Given the description of an element on the screen output the (x, y) to click on. 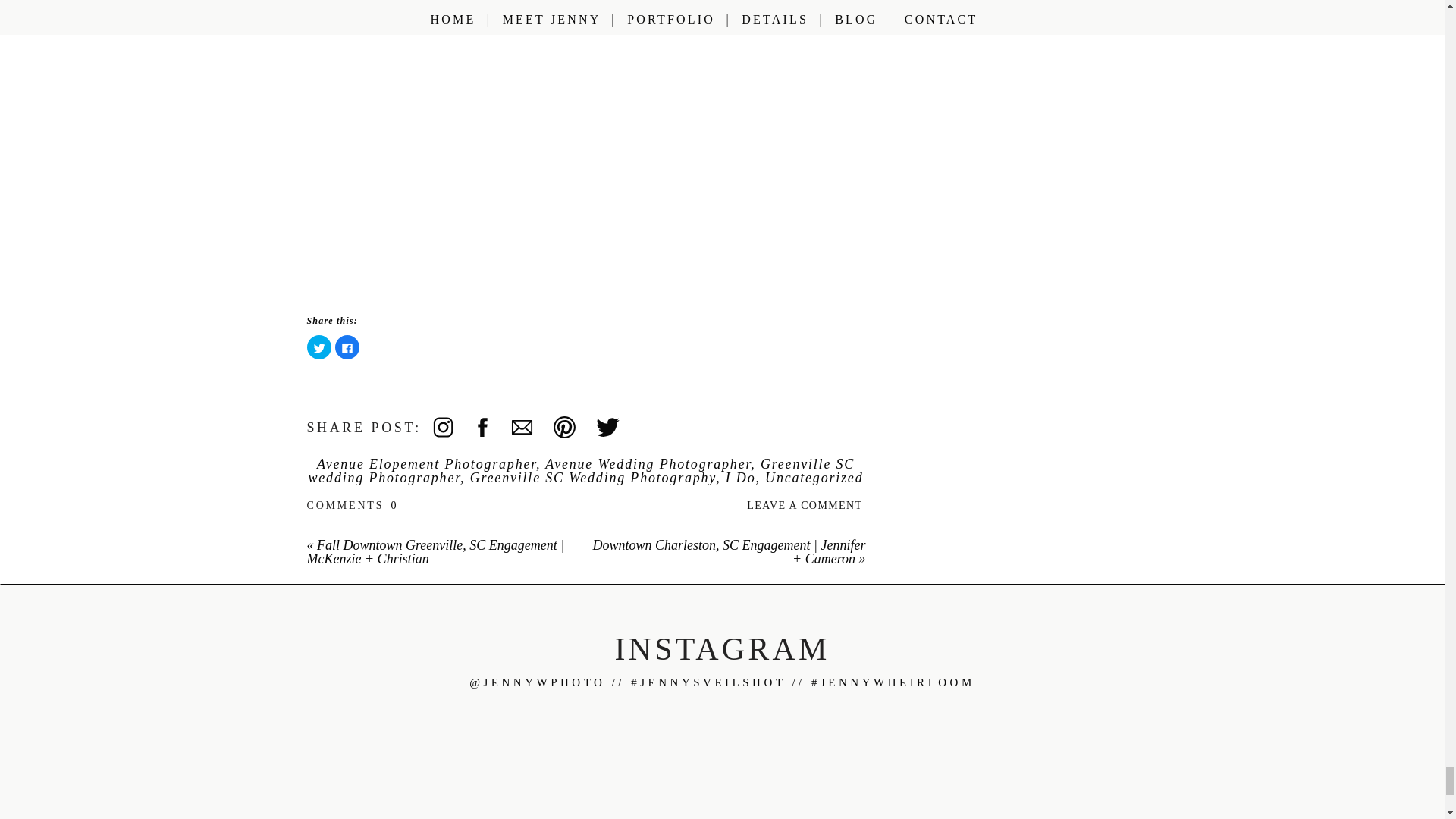
Click to share on Facebook (346, 346)
Click to share on Twitter (317, 346)
Avenue Wedding Photographer (647, 463)
Avenue Elopement Photographer (426, 463)
Greenville SC wedding Photographer (582, 470)
